Given the description of an element on the screen output the (x, y) to click on. 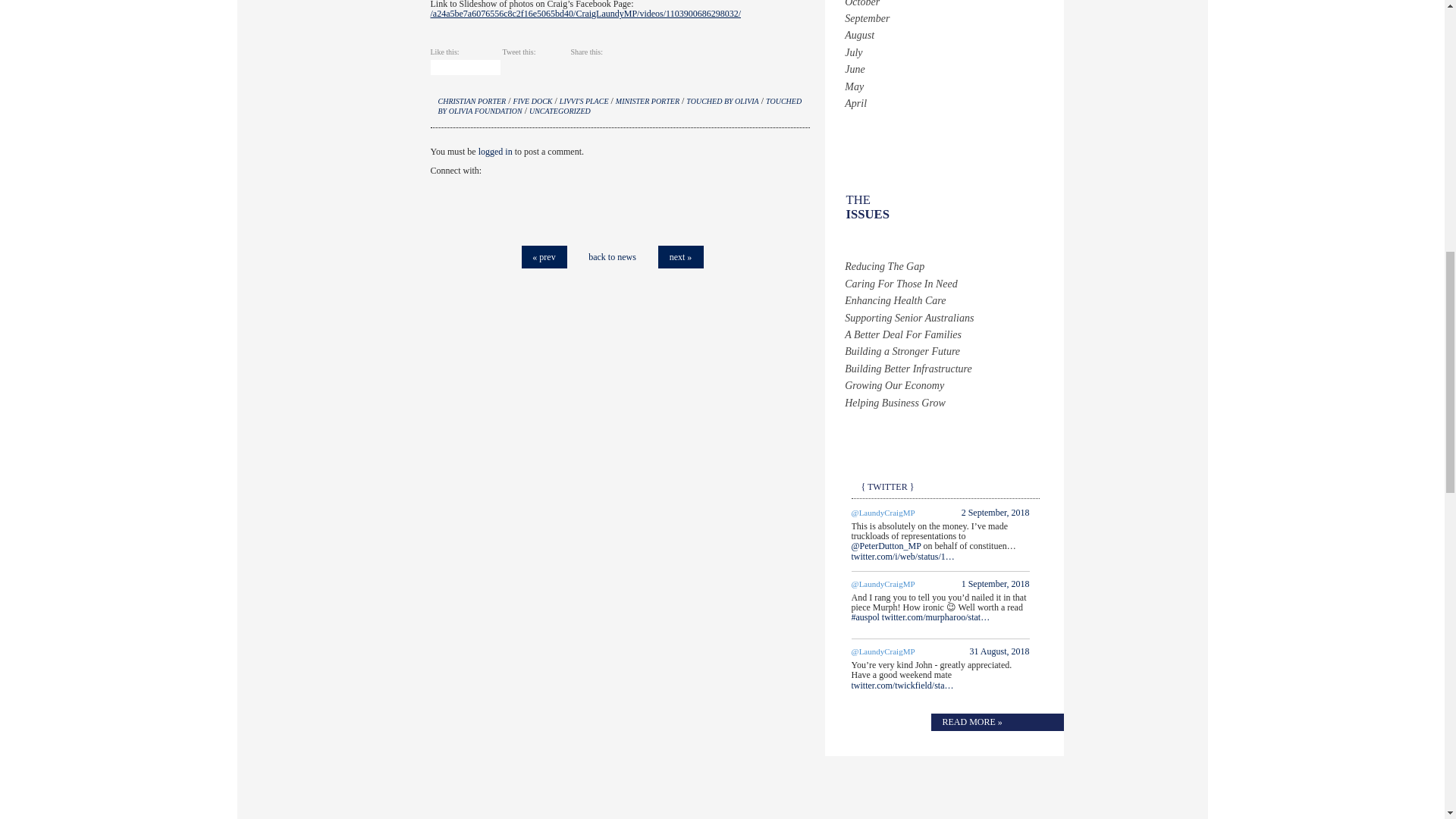
Time posted: 31st Aug 2018 21:15:01 (999, 651)
Time posted: 02nd Sep 2018 22:19:16 (994, 511)
Time posted: 01st Sep 2018 03:35:53 (994, 583)
